Given the description of an element on the screen output the (x, y) to click on. 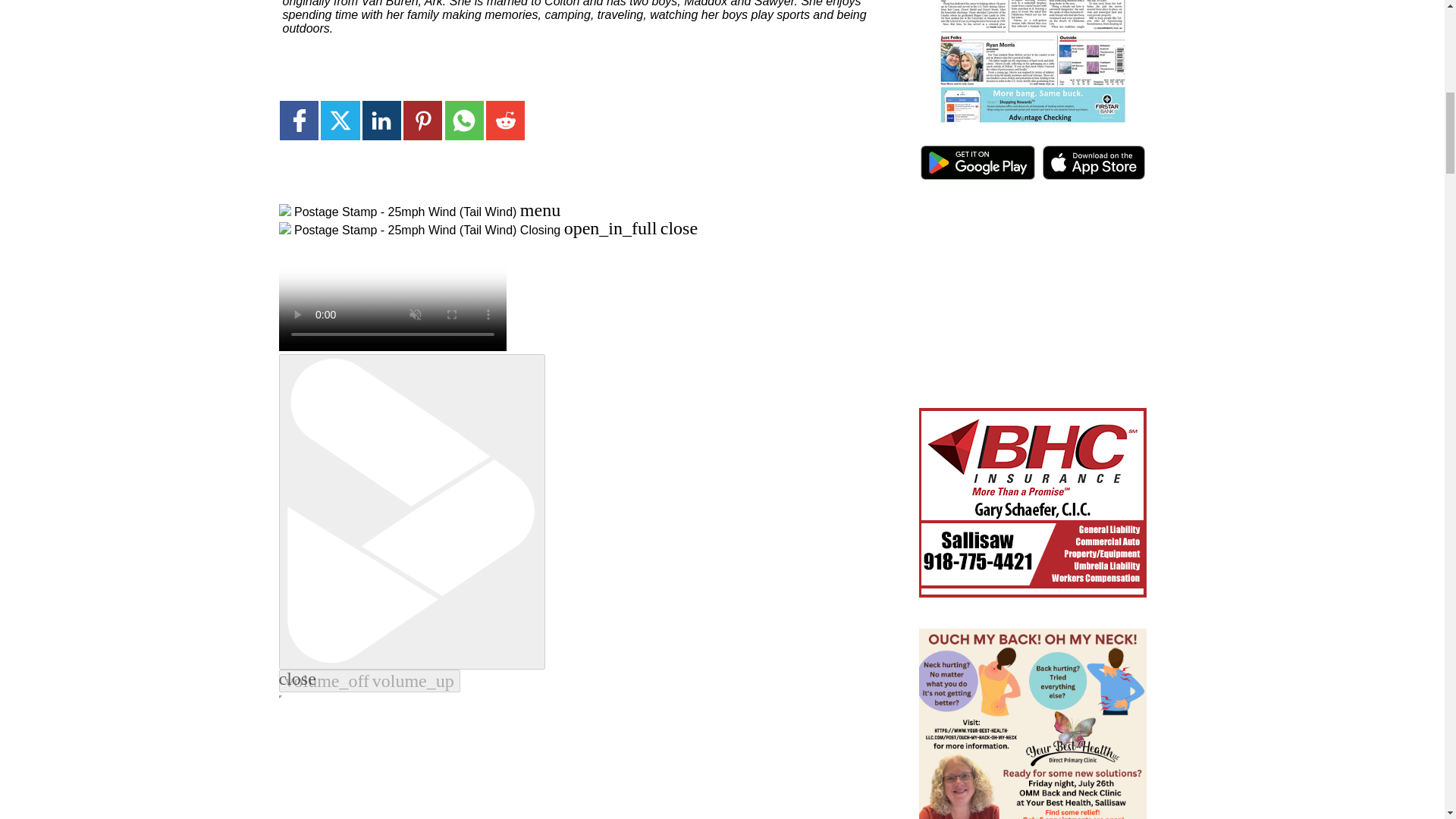
ePaper (1032, 65)
